Given the description of an element on the screen output the (x, y) to click on. 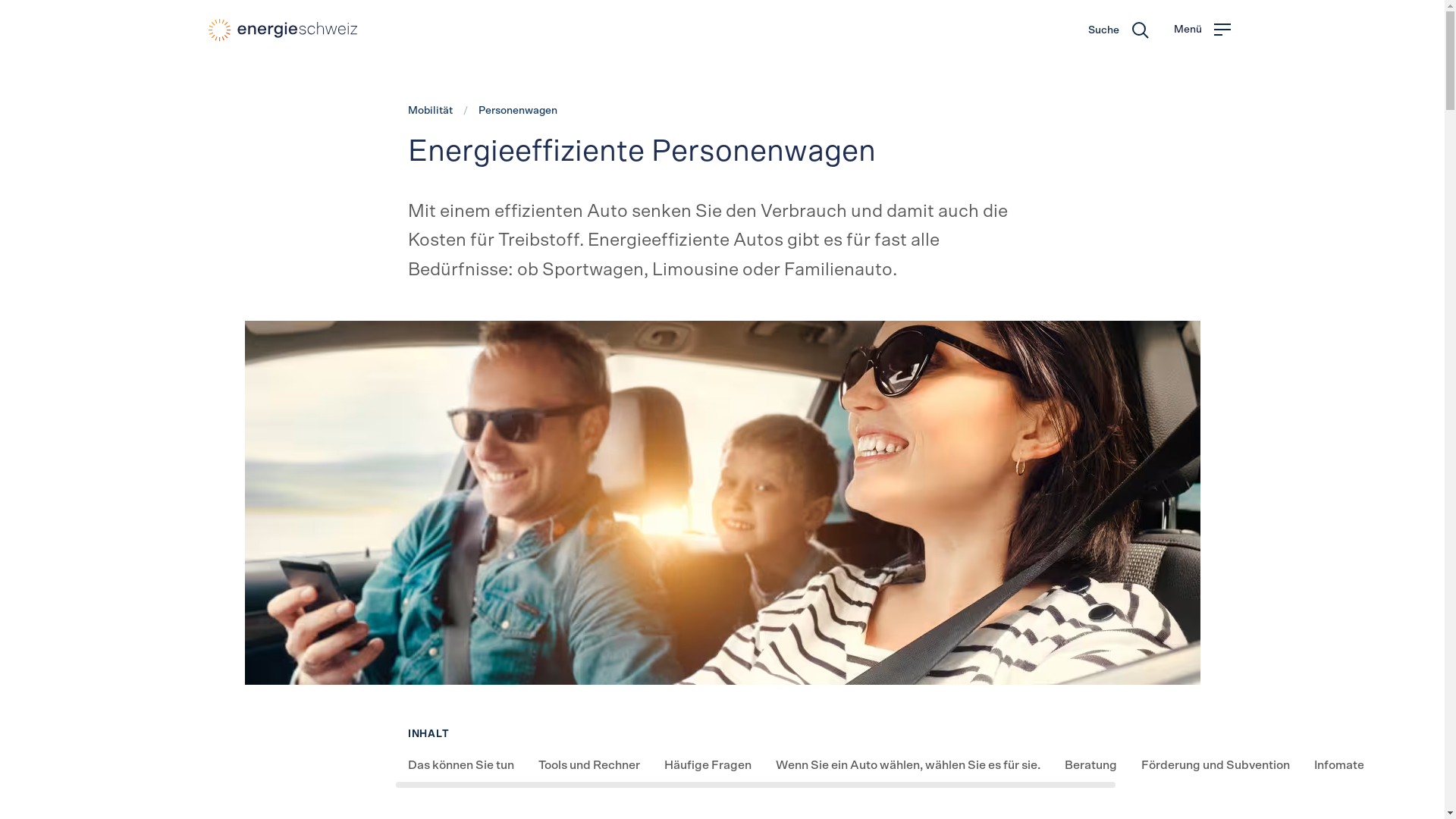
Tools und Rechner Element type: text (589, 765)
Suche Element type: text (1117, 30)
Personenwagen Element type: text (517, 110)
Beratung Element type: text (1090, 765)
